Given the description of an element on the screen output the (x, y) to click on. 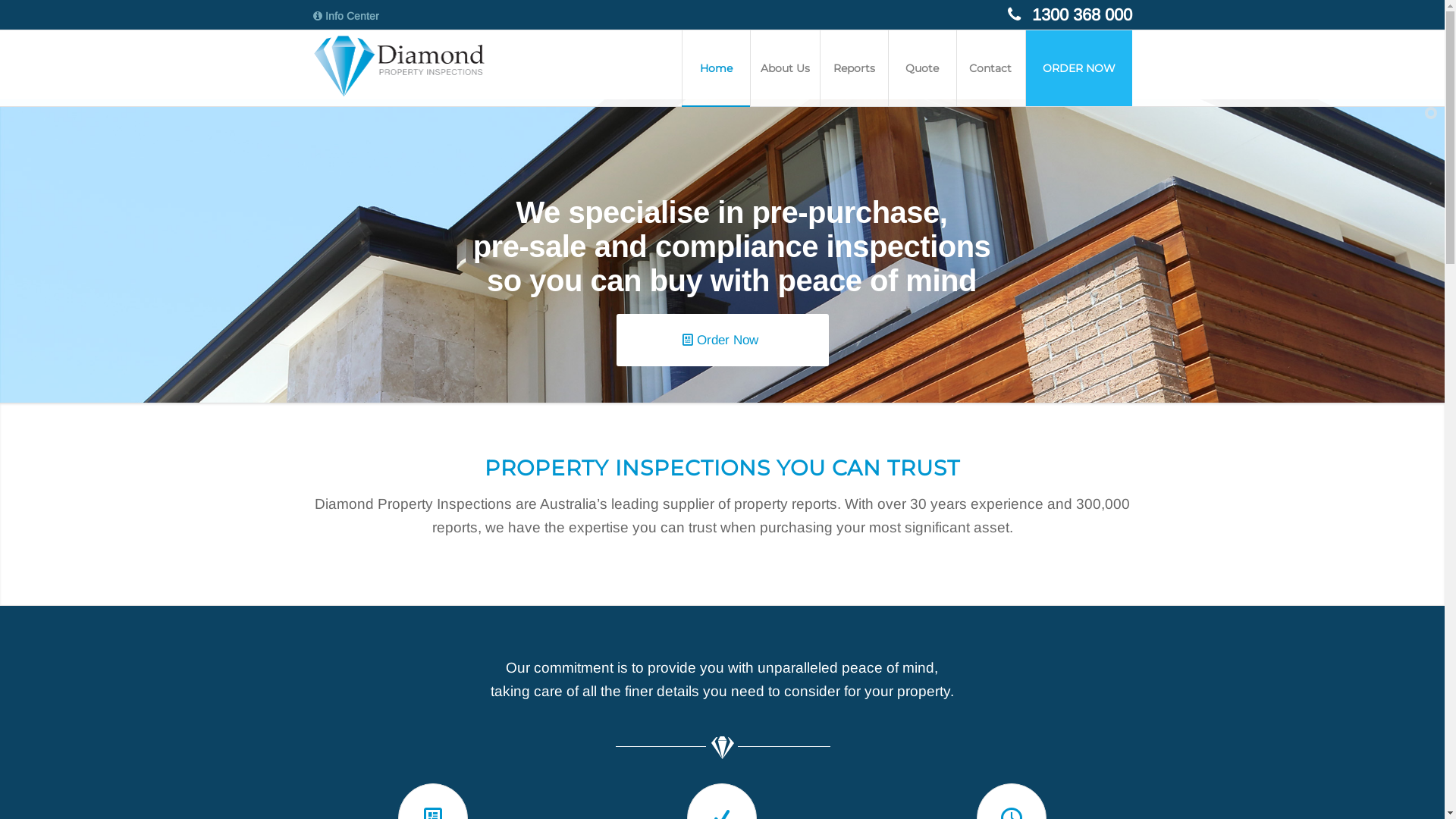
Contact Element type: text (989, 68)
Reports Element type: text (853, 68)
About Us Element type: text (784, 68)
Order Now Element type: text (721, 339)
  1300 368 000 Element type: text (1076, 14)
Quote Element type: text (921, 68)
Home Element type: text (714, 68)
ORDER NOW Element type: text (1078, 68)
divider_white Element type: hover (722, 747)
Info Center Element type: text (345, 15)
